Given the description of an element on the screen output the (x, y) to click on. 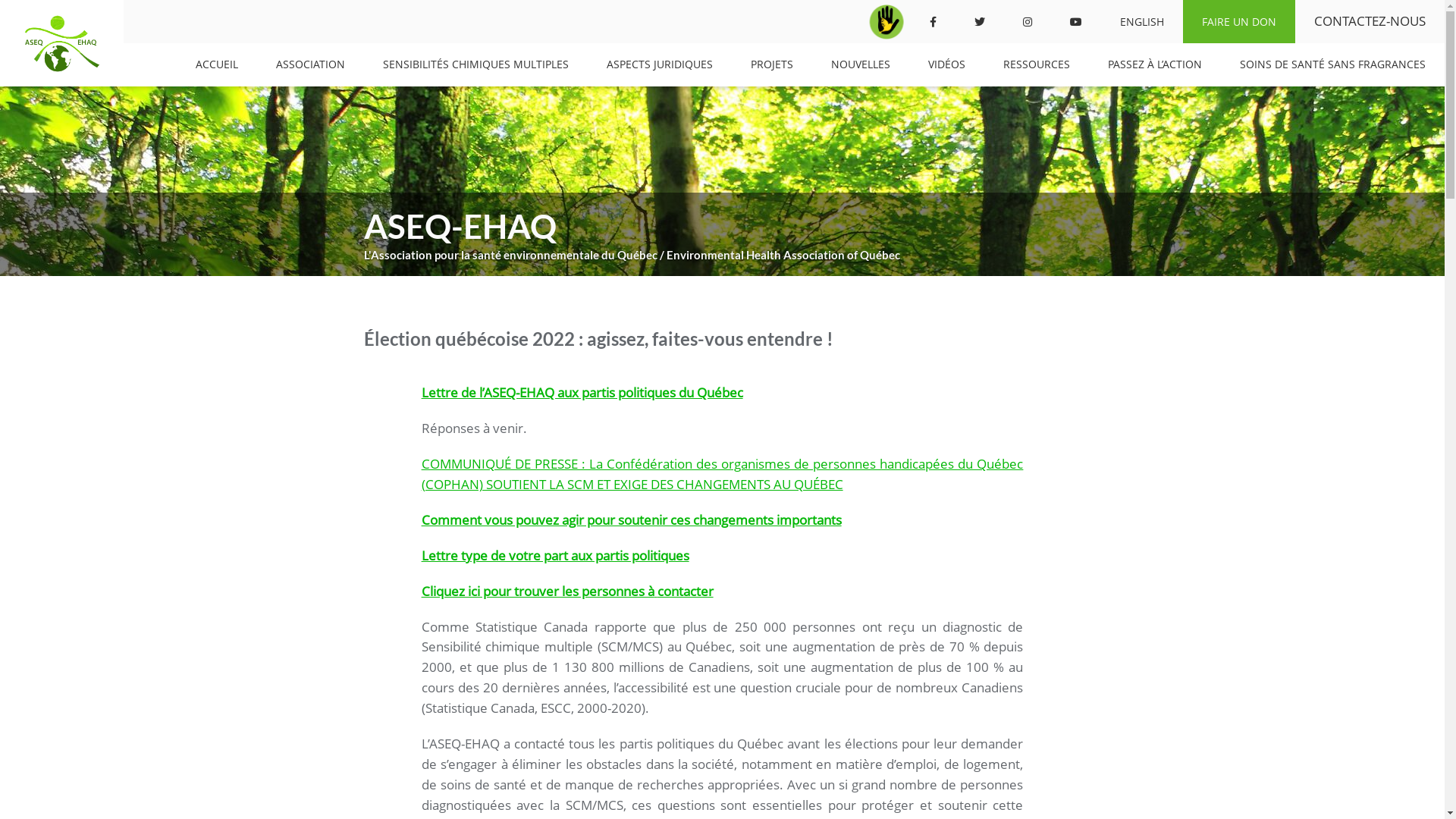
Lettre type de votre part aux partis politiques Element type: text (555, 555)
FAIRE UN DON Element type: text (1239, 21)
ENGLISH Element type: text (1142, 21)
ACCUEIL Element type: text (216, 64)
ASSOCIATION Element type: text (310, 64)
RESSOURCES Element type: text (1036, 64)
PROJETS Element type: text (771, 64)
CONTACTEZ-NOUS Element type: text (1369, 21)
ASPECTS JURIDIQUES Element type: text (659, 64)
NOUVELLES Element type: text (860, 64)
